Given the description of an element on the screen output the (x, y) to click on. 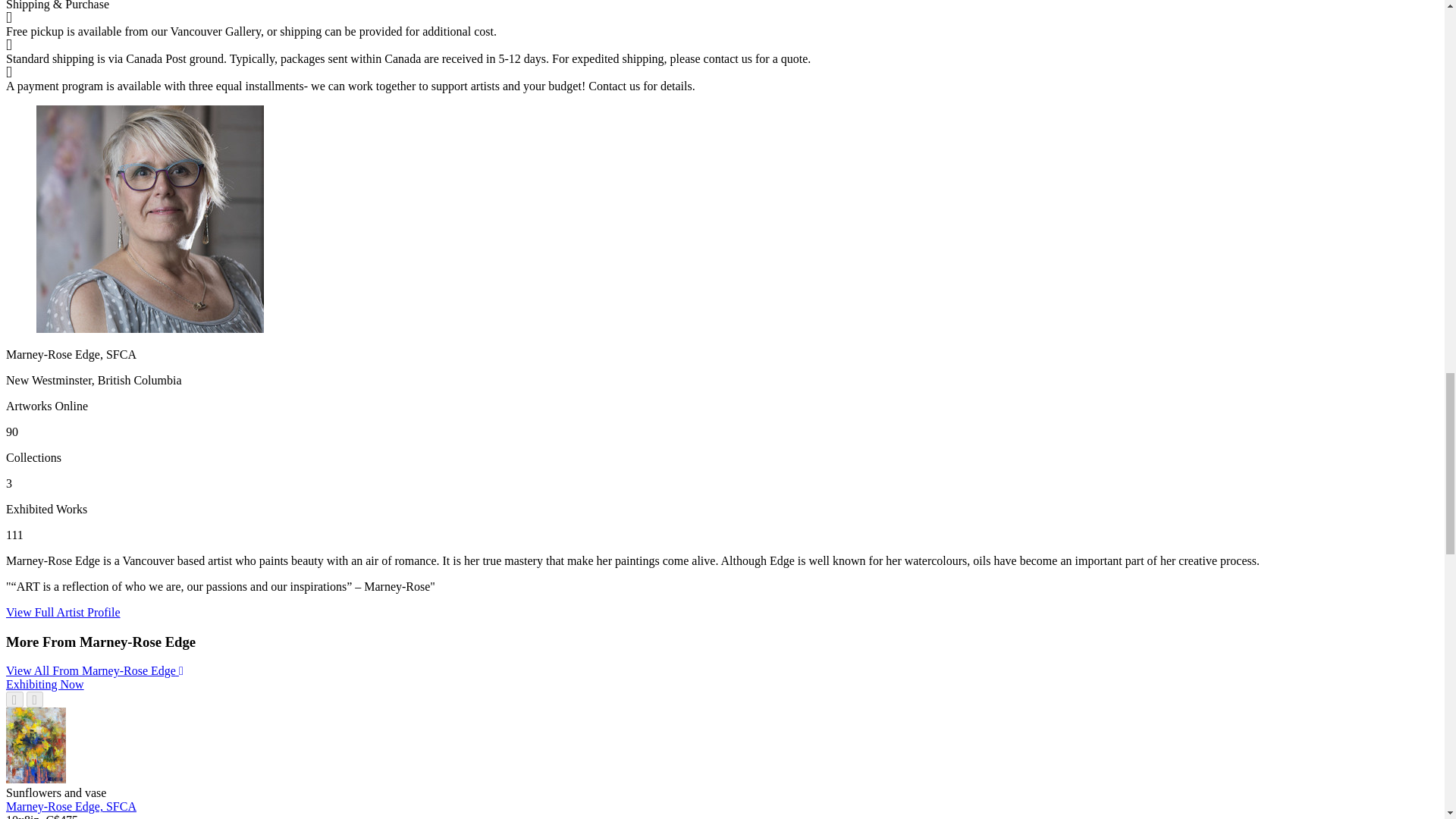
View All From Marney-Rose Edge (94, 670)
Marney-Rose Edge, SFCA (70, 806)
View Full Artist Profile (62, 612)
Exhibiting Now (44, 684)
